Given the description of an element on the screen output the (x, y) to click on. 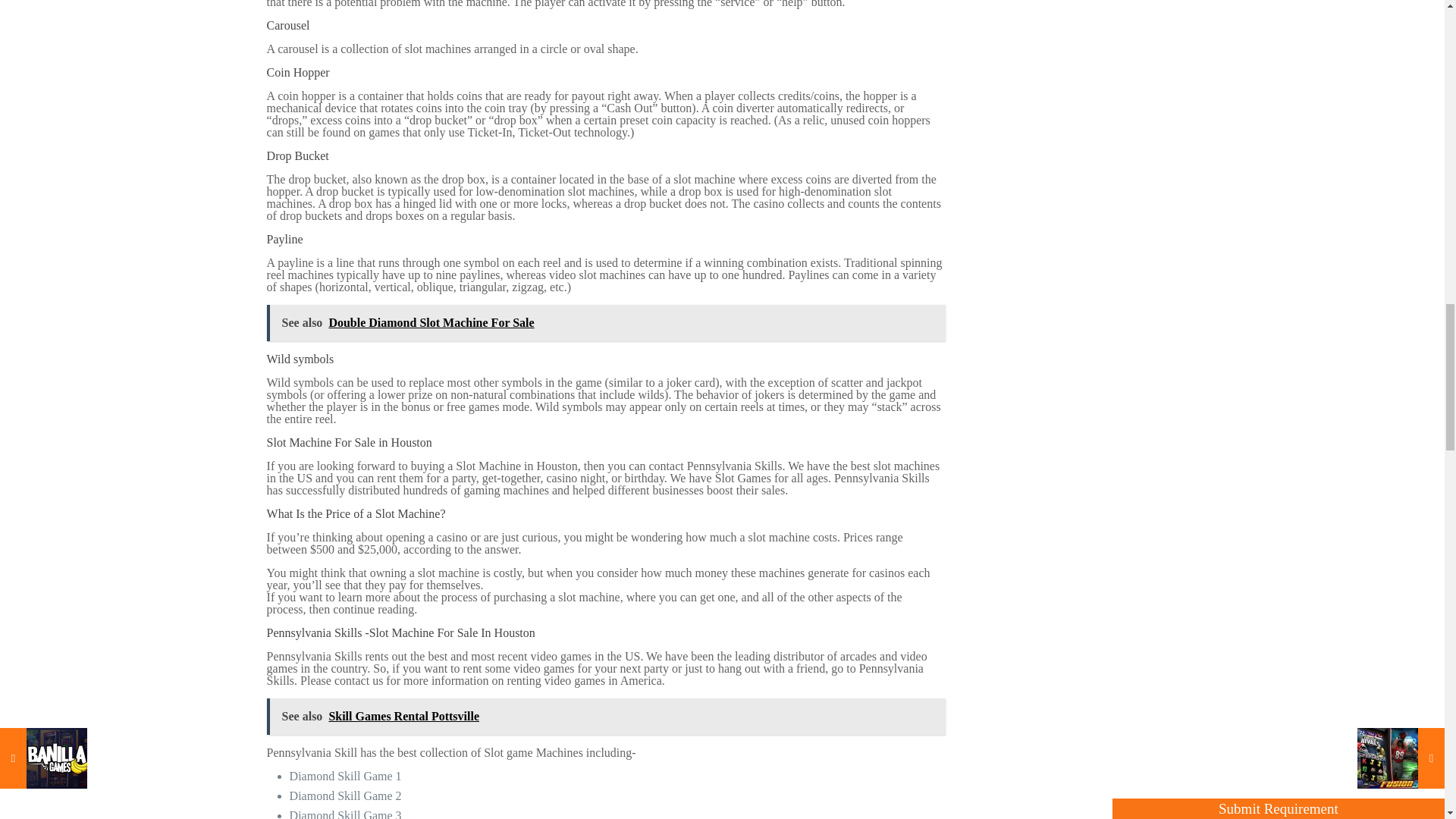
Pennsylvania Skills (314, 632)
See also  Double Diamond Slot Machine For Sale (606, 322)
See also  Skill Games Rental Pottsville (606, 716)
